Given the description of an element on the screen output the (x, y) to click on. 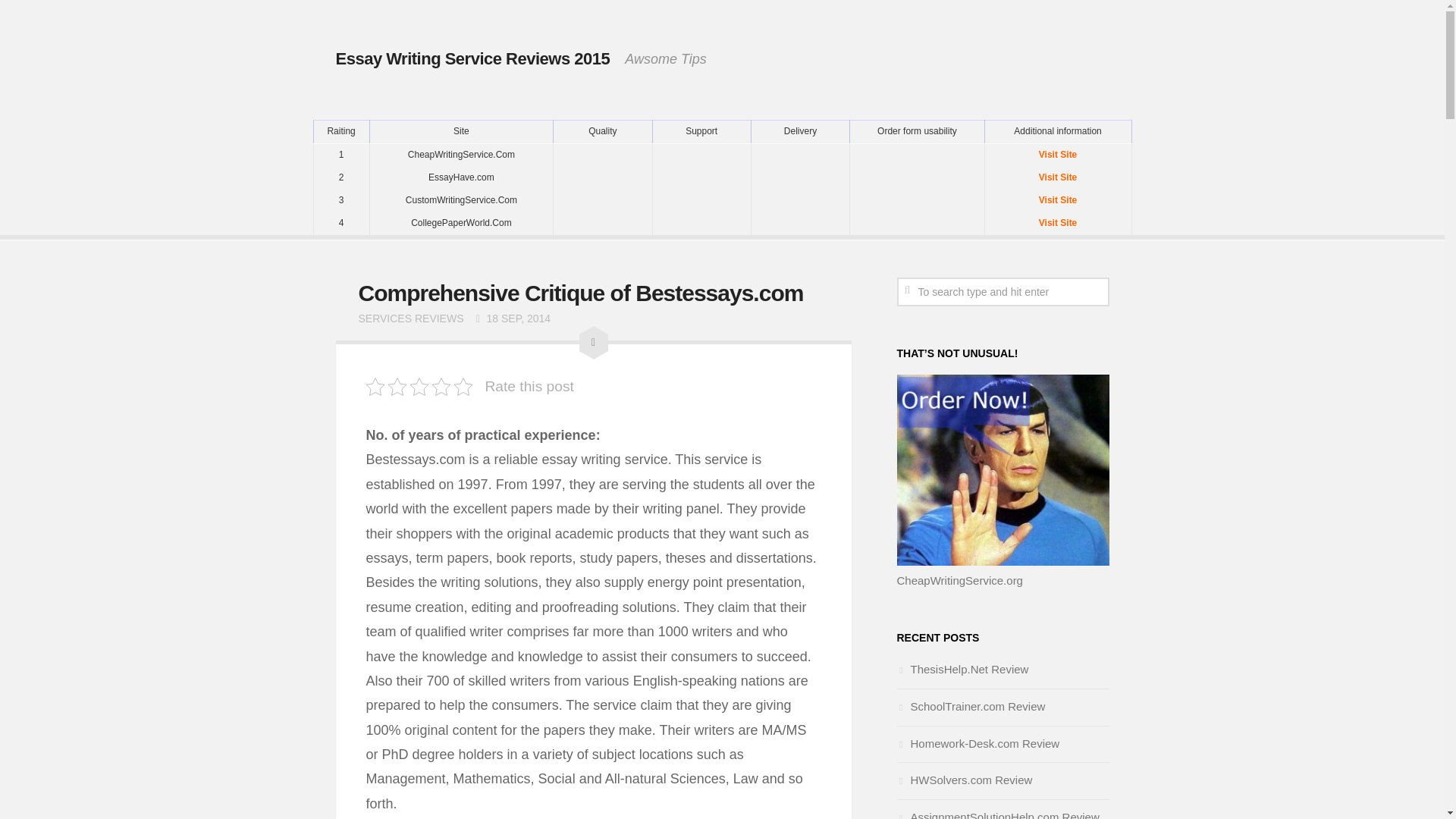
ThesisHelp.Net Review (961, 668)
Visit Site (1057, 222)
Essay Writing Service Reviews 2015 (472, 58)
To search type and hit enter (1002, 291)
Visit Site (1057, 154)
Visit Site (1057, 199)
SchoolTrainer.com Review (970, 706)
SERVICES REVIEWS (410, 318)
HWSolvers.com Review (964, 779)
CheapWritingService.org (959, 580)
